Given the description of an element on the screen output the (x, y) to click on. 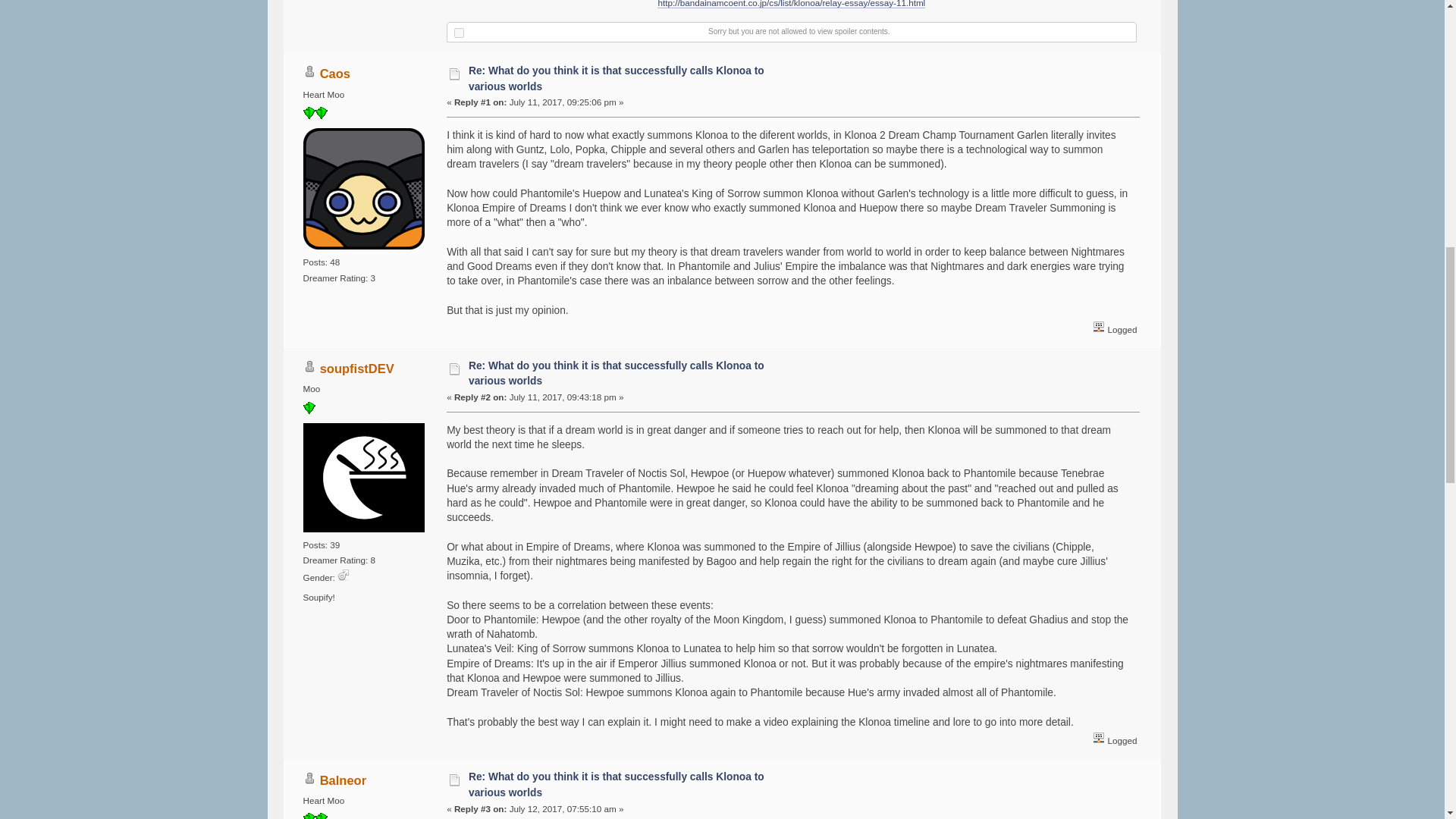
View the profile of soupfistDEV (357, 368)
soupfistDEV (357, 368)
View the profile of Balneor (343, 780)
View the profile of Caos (335, 73)
Caos (335, 73)
Balneor (343, 780)
